Given the description of an element on the screen output the (x, y) to click on. 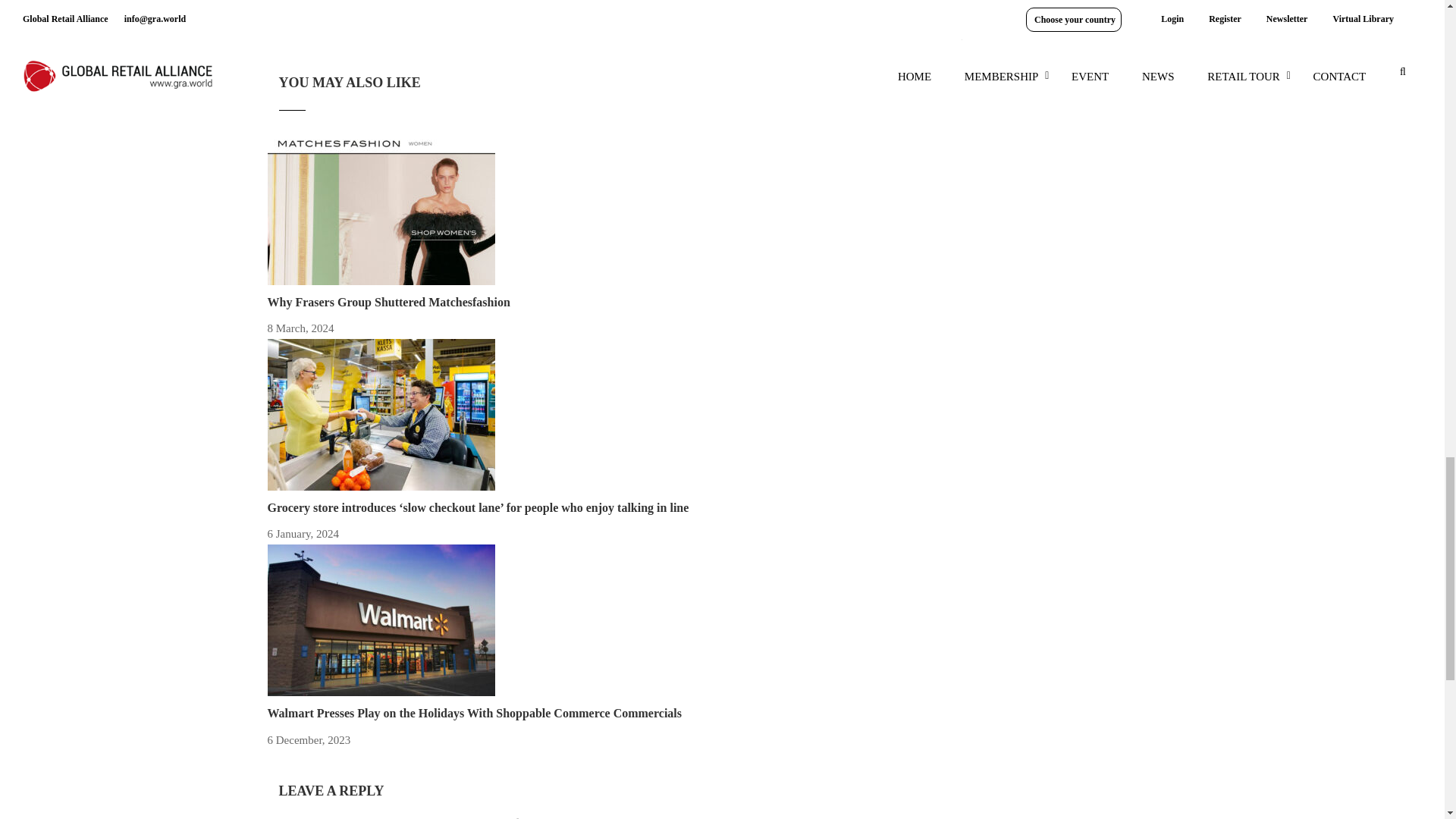
walmart (380, 620)
Why Frasers Group Shuttered Matchesfashion (387, 301)
matchesfashion (380, 209)
Senza-titolo-1 (380, 414)
